Given the description of an element on the screen output the (x, y) to click on. 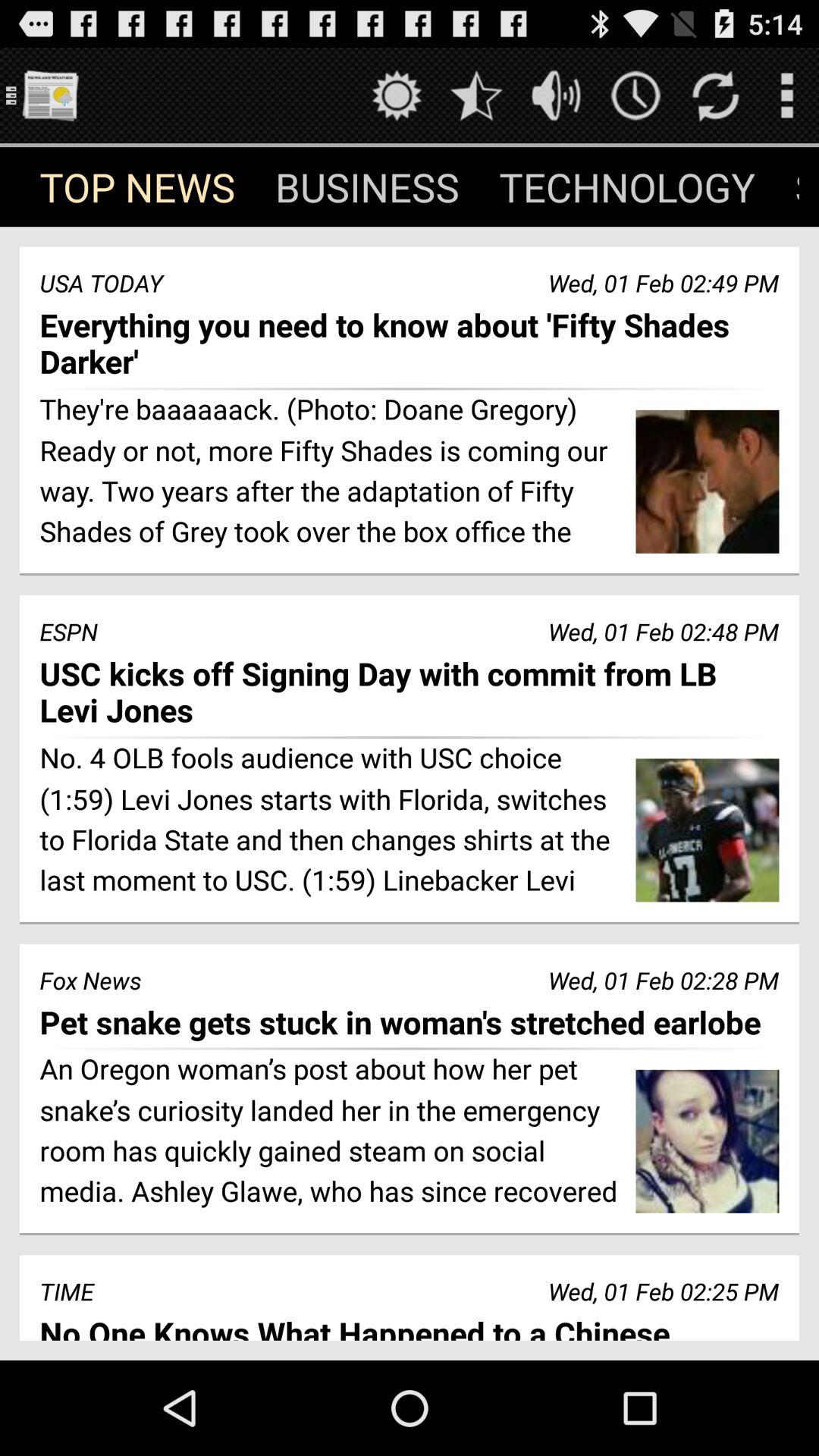
pull out menu (787, 95)
